Given the description of an element on the screen output the (x, y) to click on. 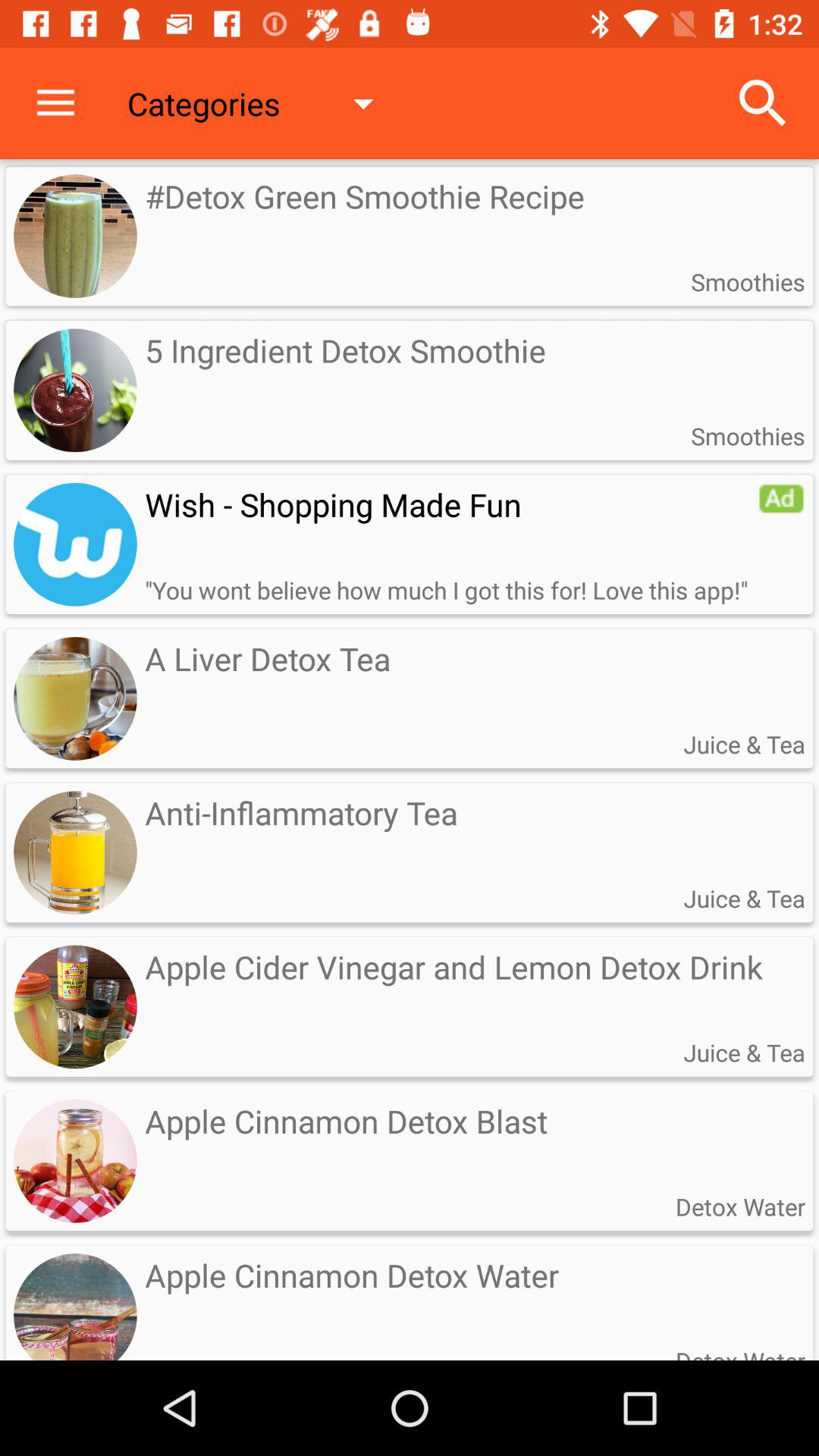
tap item below the smoothies (781, 498)
